Given the description of an element on the screen output the (x, y) to click on. 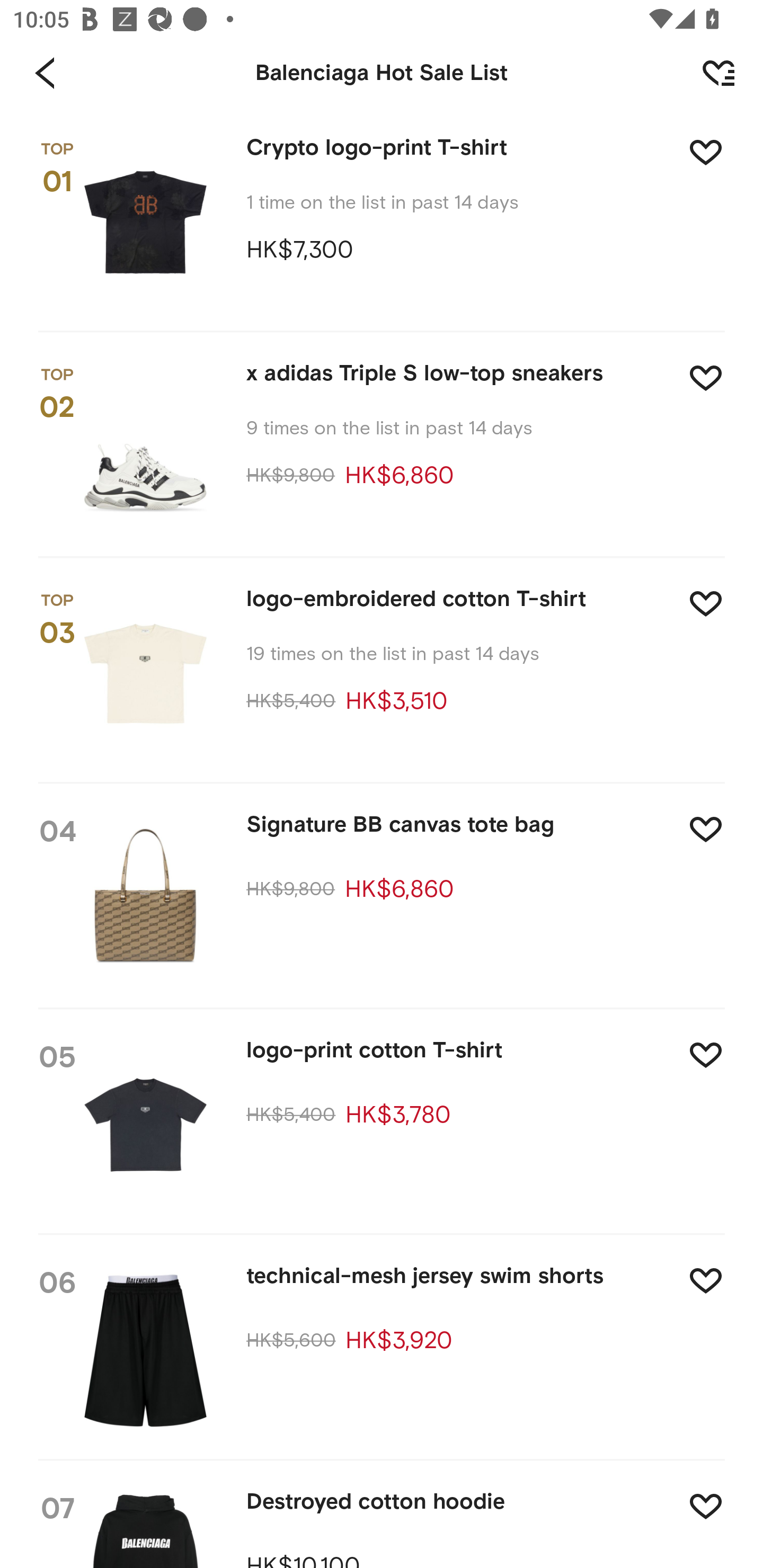
04 Signature BB canvas tote bag HK$9,800 HK$6,860 (381, 897)
05 logo-print cotton T-shirt HK$5,400 HK$3,780 (381, 1123)
07 Destroyed cotton hoodie HK$10,100 (381, 1514)
